Given the description of an element on the screen output the (x, y) to click on. 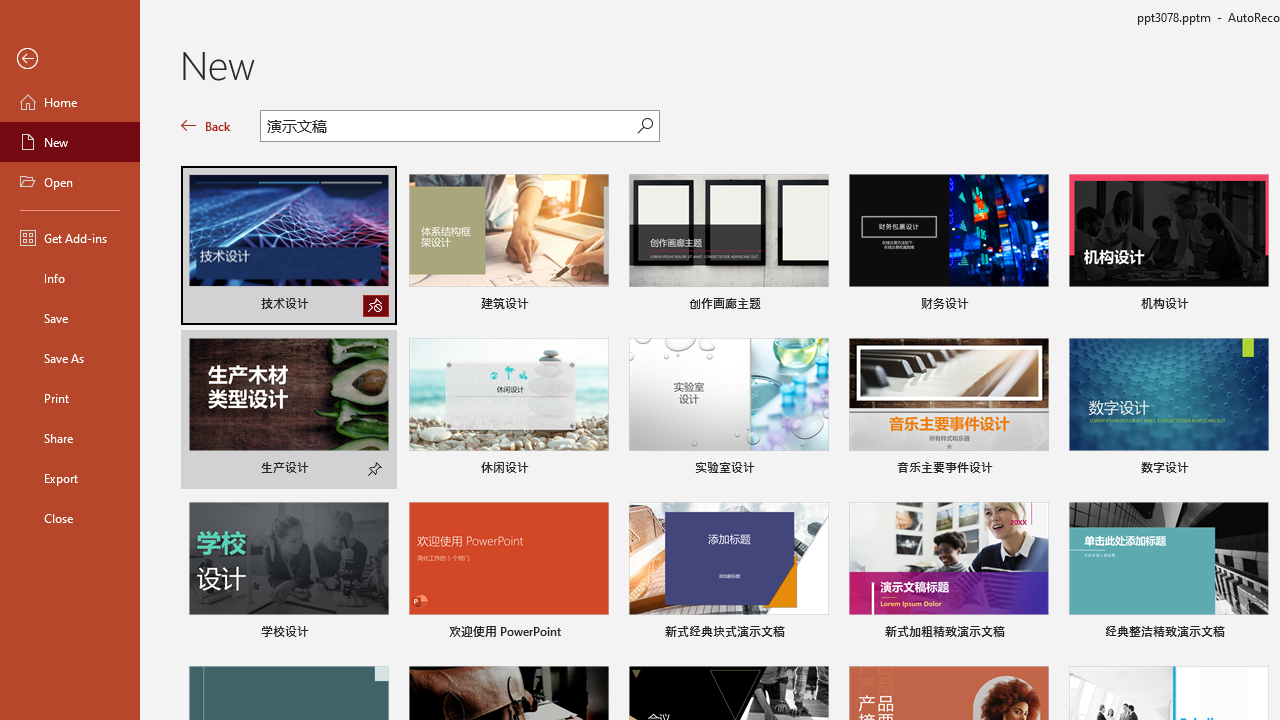
Back (205, 125)
Pin to list (1255, 633)
New (69, 141)
Search for online templates and themes (449, 128)
Save As (69, 357)
Unpin from list (376, 305)
Start searching (645, 125)
